Given the description of an element on the screen output the (x, y) to click on. 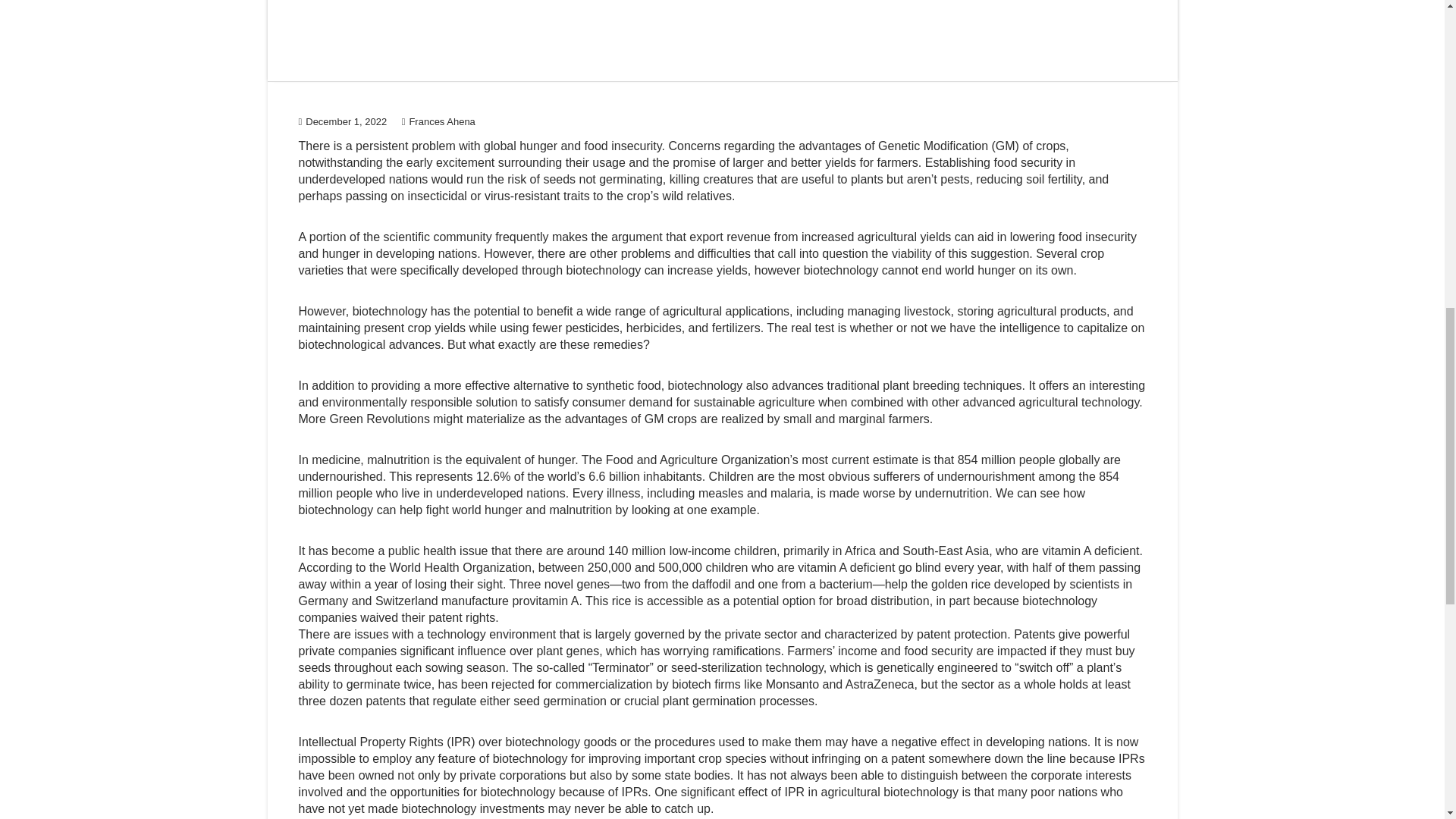
Frances Ahena (438, 121)
December 1, 2022 (342, 121)
